Given the description of an element on the screen output the (x, y) to click on. 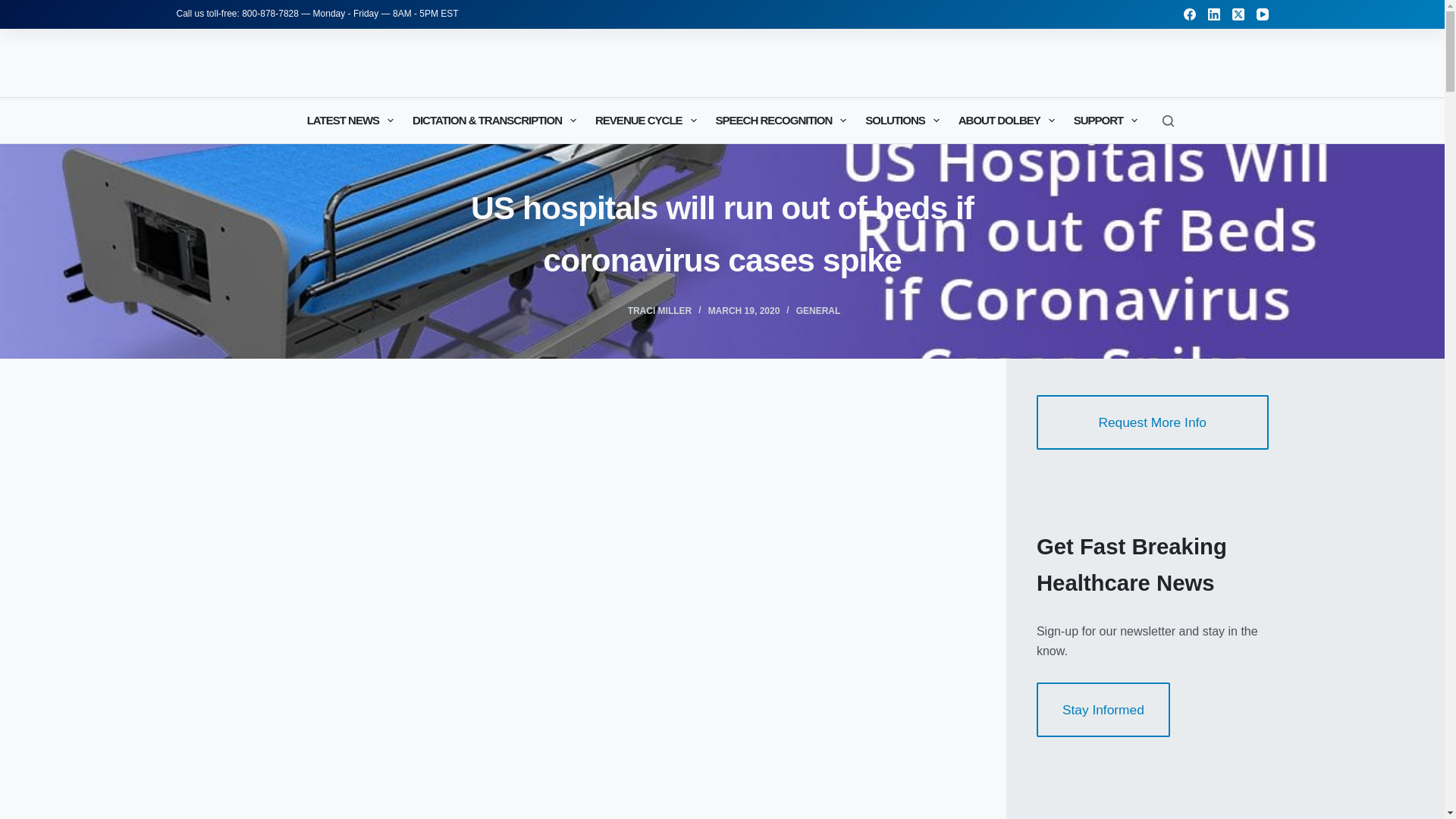
Skip to content (15, 7)
Posts by Traci Miller (660, 310)
US hospitals will run out of beds if coronavirus cases spike (722, 233)
